Given the description of an element on the screen output the (x, y) to click on. 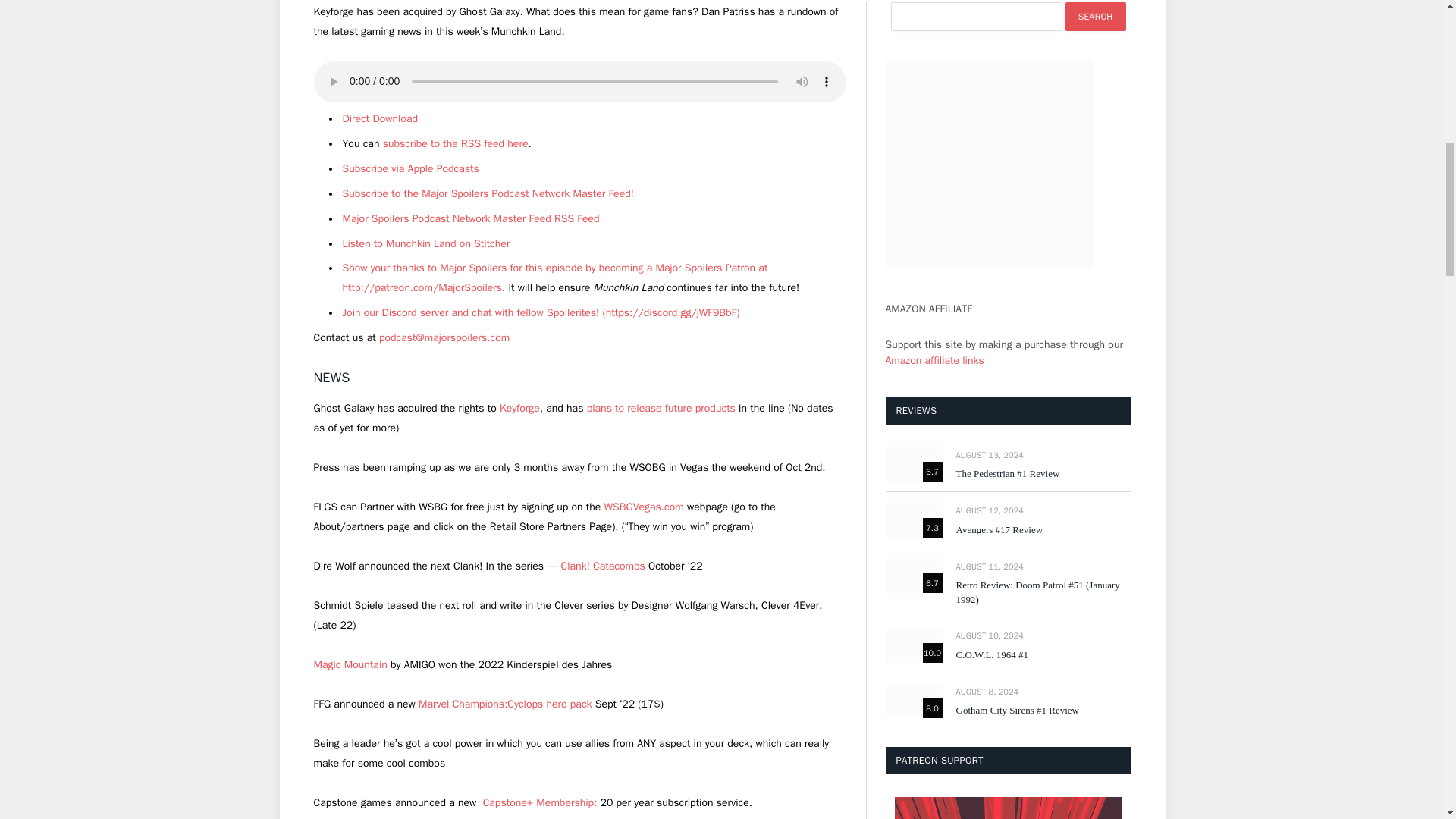
Munchkin Land (410, 168)
Major Spoilers Patreon (555, 277)
Munchkin Land RSS Feed (455, 143)
Search (1095, 16)
e-mail the show! (443, 337)
